Given the description of an element on the screen output the (x, y) to click on. 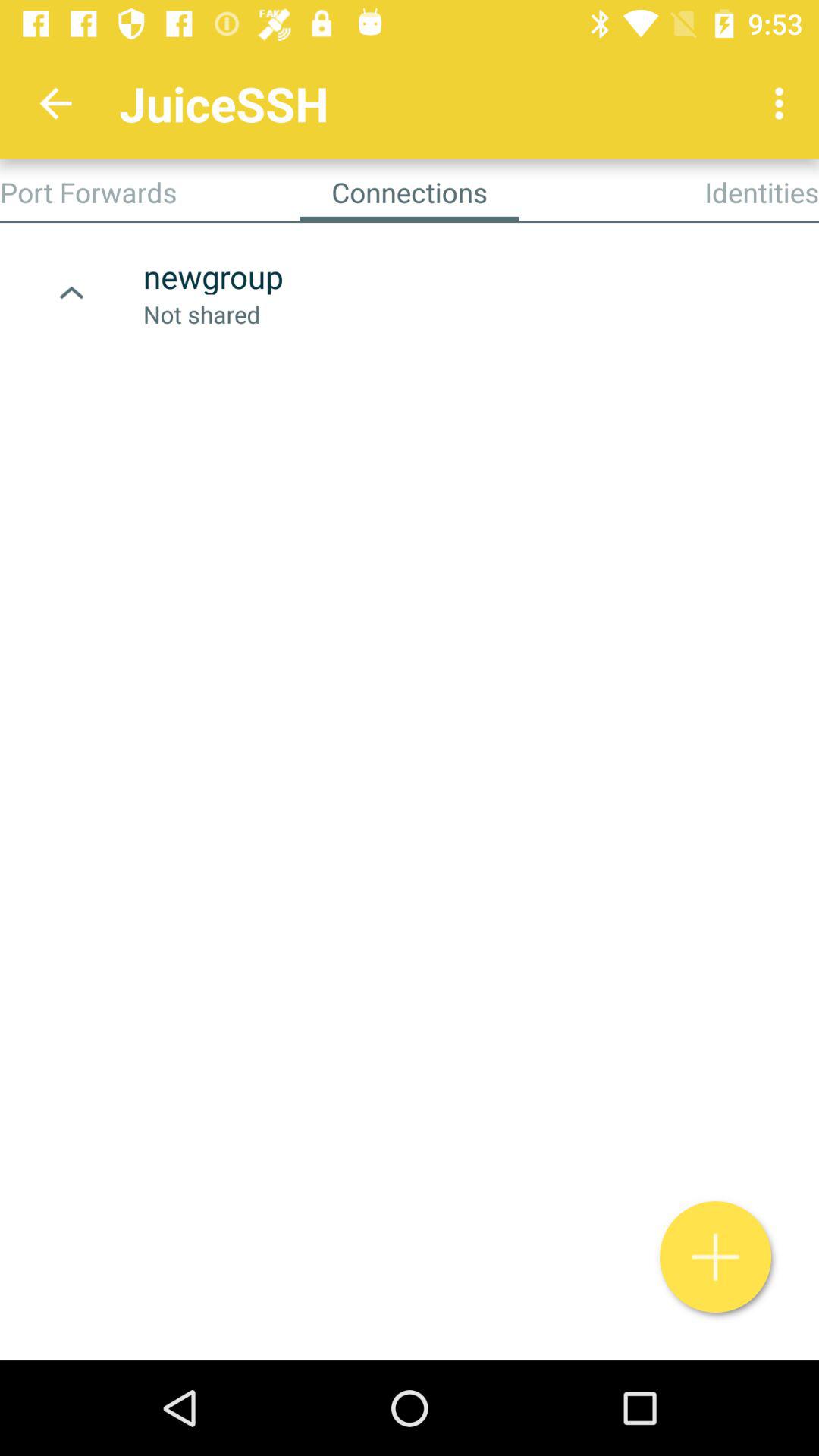
flip to port forwards icon (88, 192)
